Given the description of an element on the screen output the (x, y) to click on. 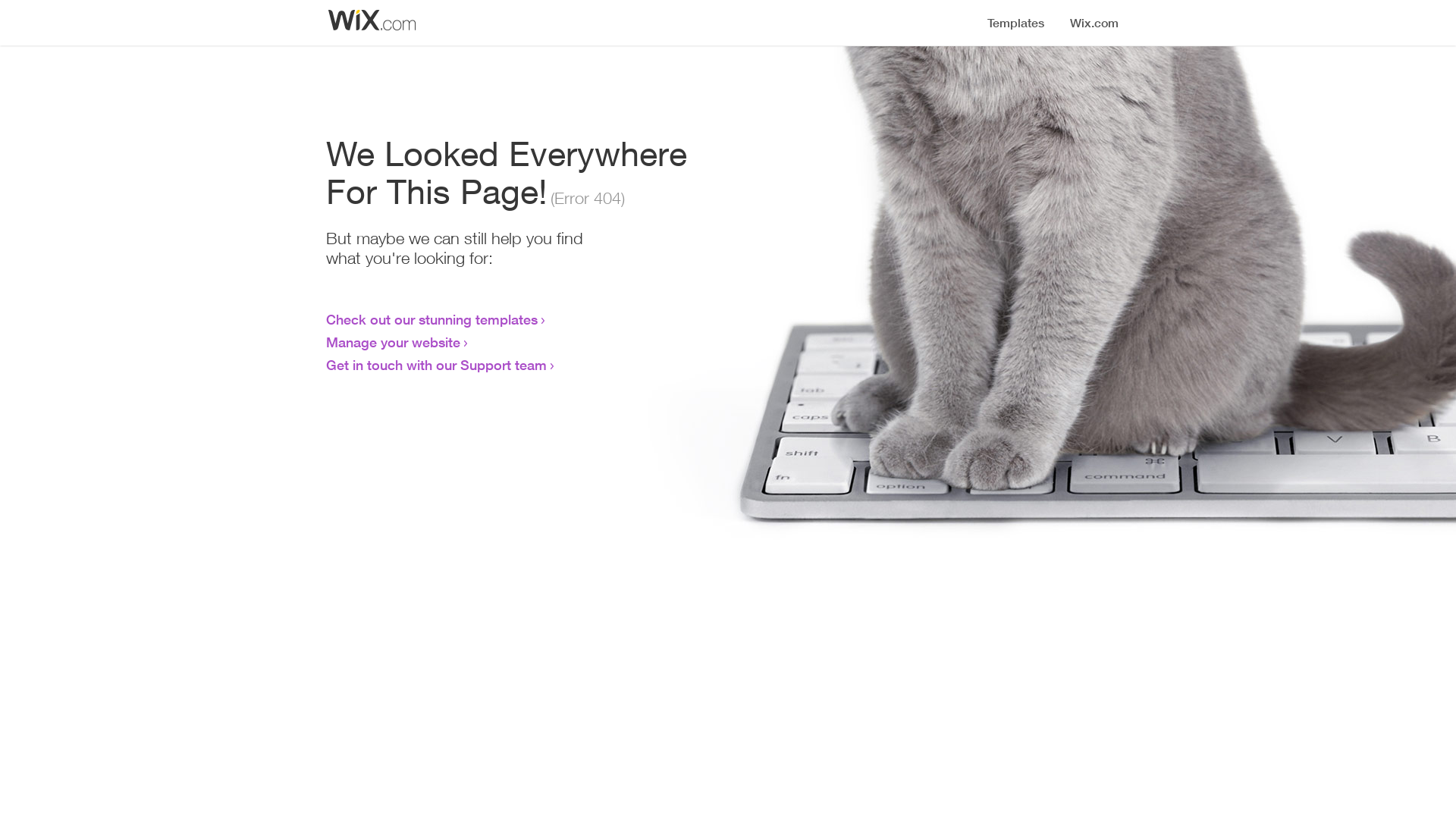
Manage your website Element type: text (393, 341)
Check out our stunning templates Element type: text (431, 318)
Get in touch with our Support team Element type: text (436, 364)
